Given the description of an element on the screen output the (x, y) to click on. 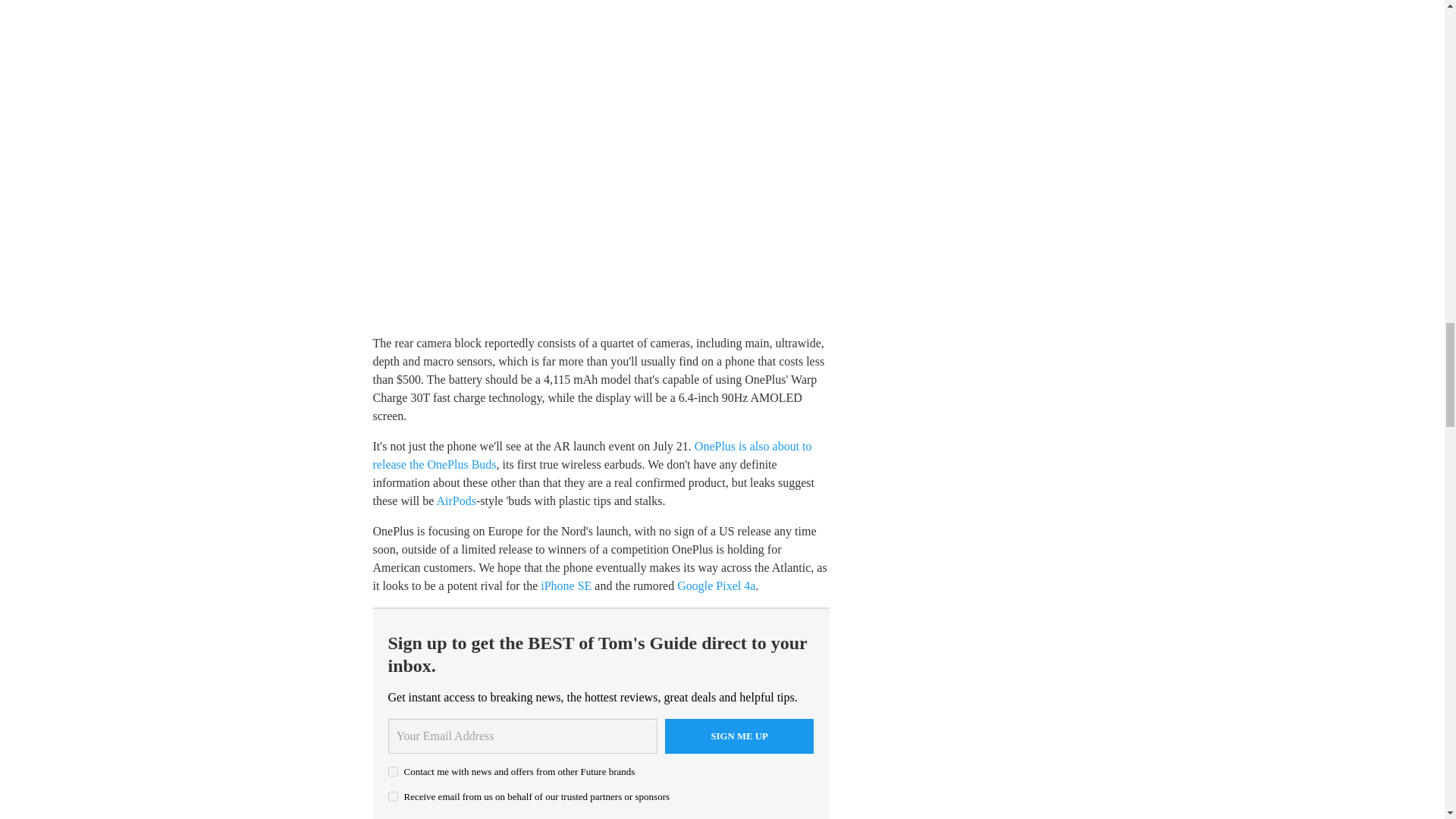
on (392, 771)
on (392, 796)
Sign me up (739, 736)
